Given the description of an element on the screen output the (x, y) to click on. 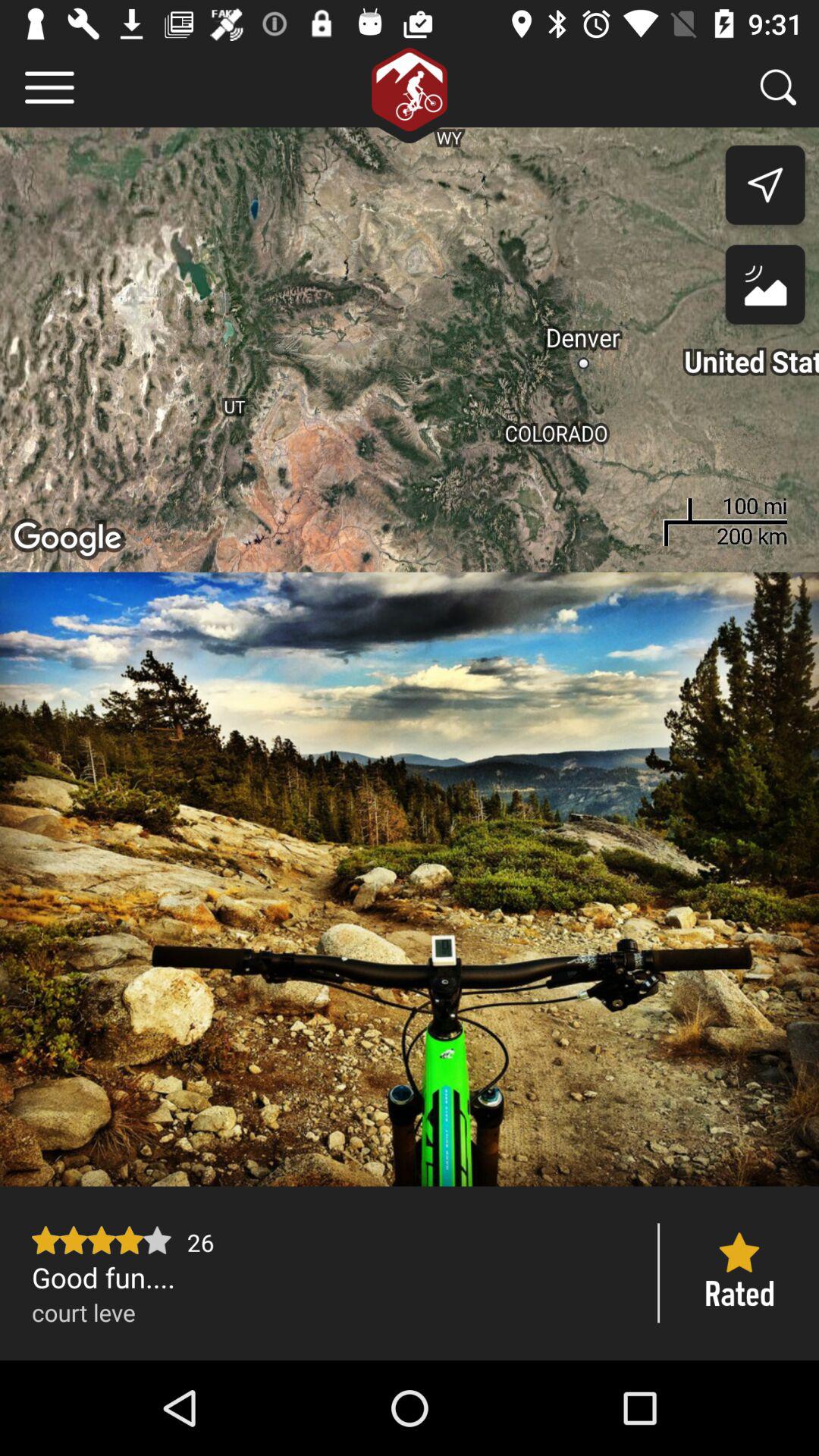
tap the good fun.... (329, 1277)
